Given the description of an element on the screen output the (x, y) to click on. 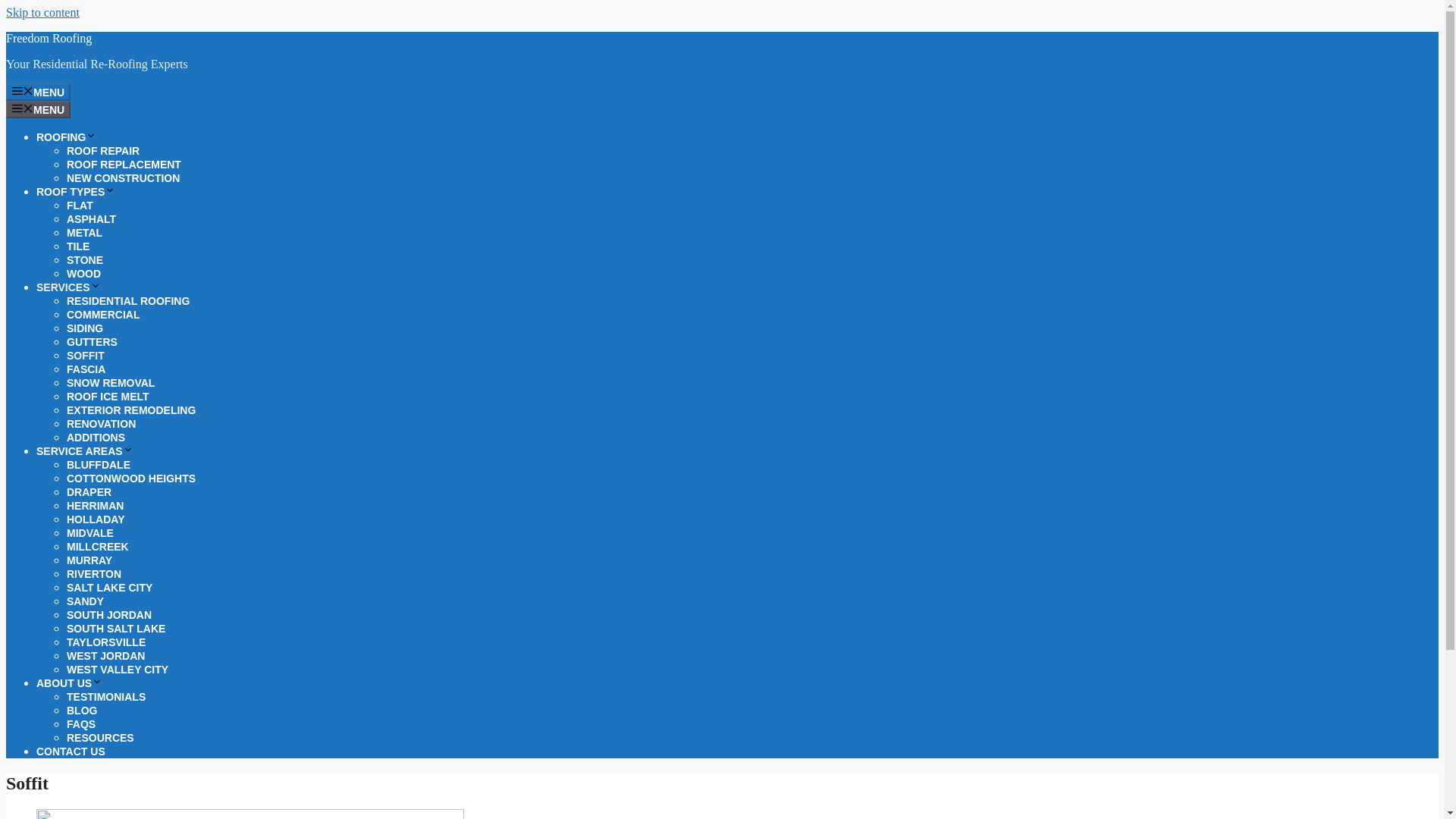
WOOD (83, 273)
SNOW REMOVAL (110, 382)
FASCIA (85, 369)
MILLCREEK (97, 546)
TILE (77, 246)
SOFFIT (85, 355)
ROOF ICE MELT (107, 396)
RENOVATION (100, 423)
FLAT (79, 205)
ADDITIONS (95, 437)
